Given the description of an element on the screen output the (x, y) to click on. 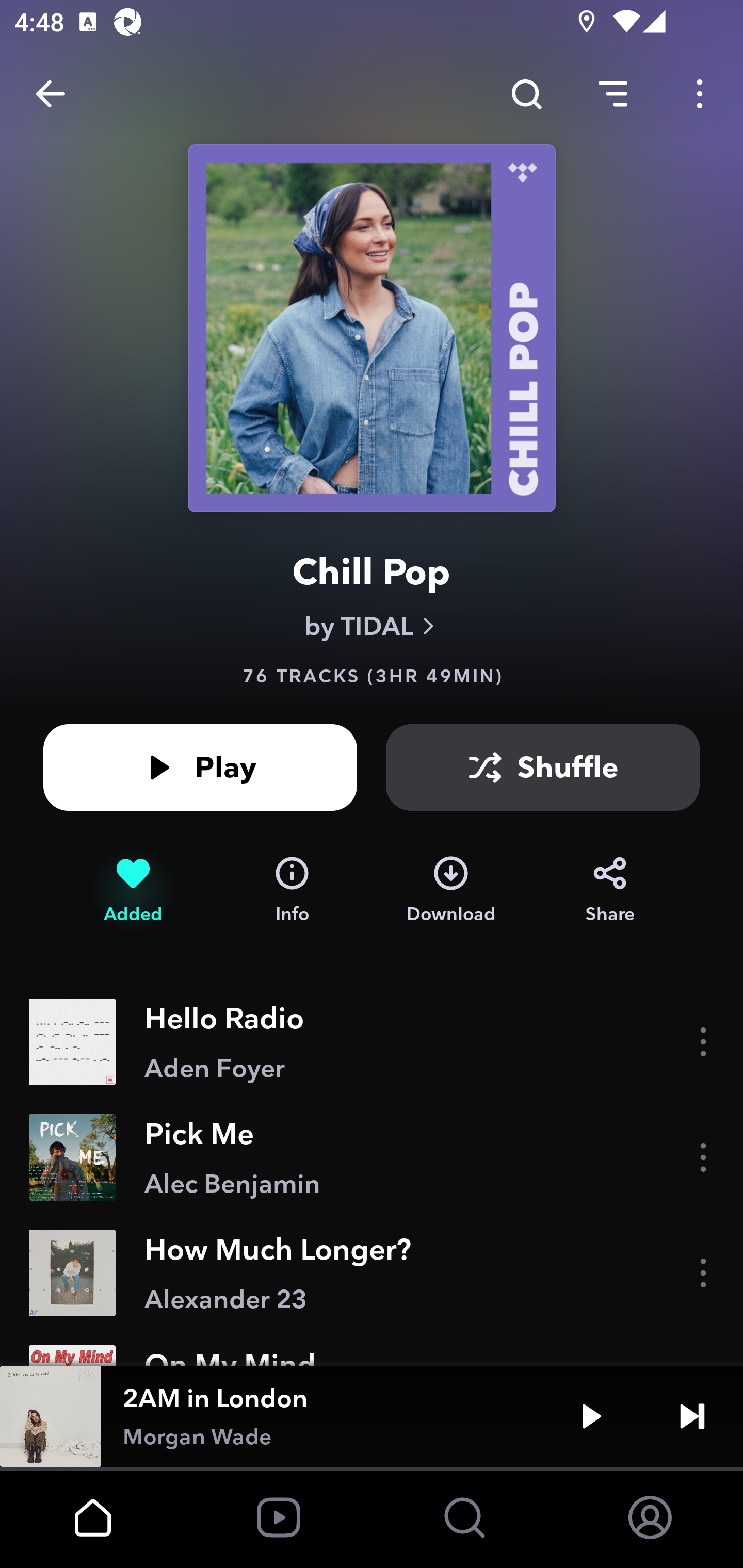
Back (50, 93)
Search (525, 93)
Sorting (612, 93)
Options (699, 93)
by TIDAL (371, 625)
Play (200, 767)
Shuffle (542, 767)
Added (132, 890)
Info (291, 890)
Download (450, 890)
Share (609, 890)
Hello Radio Aden Foyer (371, 1041)
Pick Me Alec Benjamin (371, 1157)
How Much Longer? Alexander 23 (371, 1273)
2AM in London Morgan Wade Play (371, 1416)
Play (590, 1416)
